Given the description of an element on the screen output the (x, y) to click on. 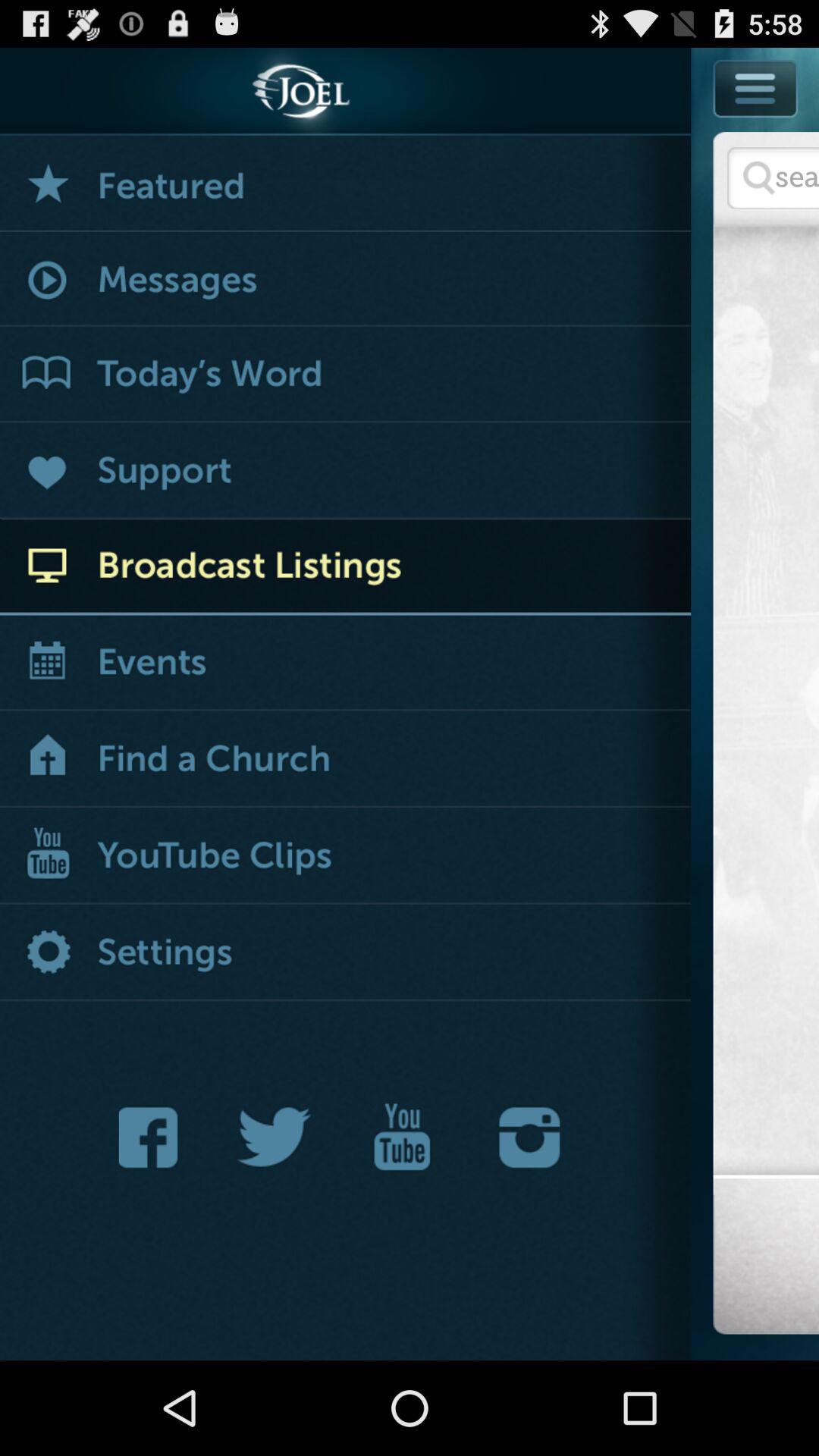
broadcast youtube clips (345, 856)
